Given the description of an element on the screen output the (x, y) to click on. 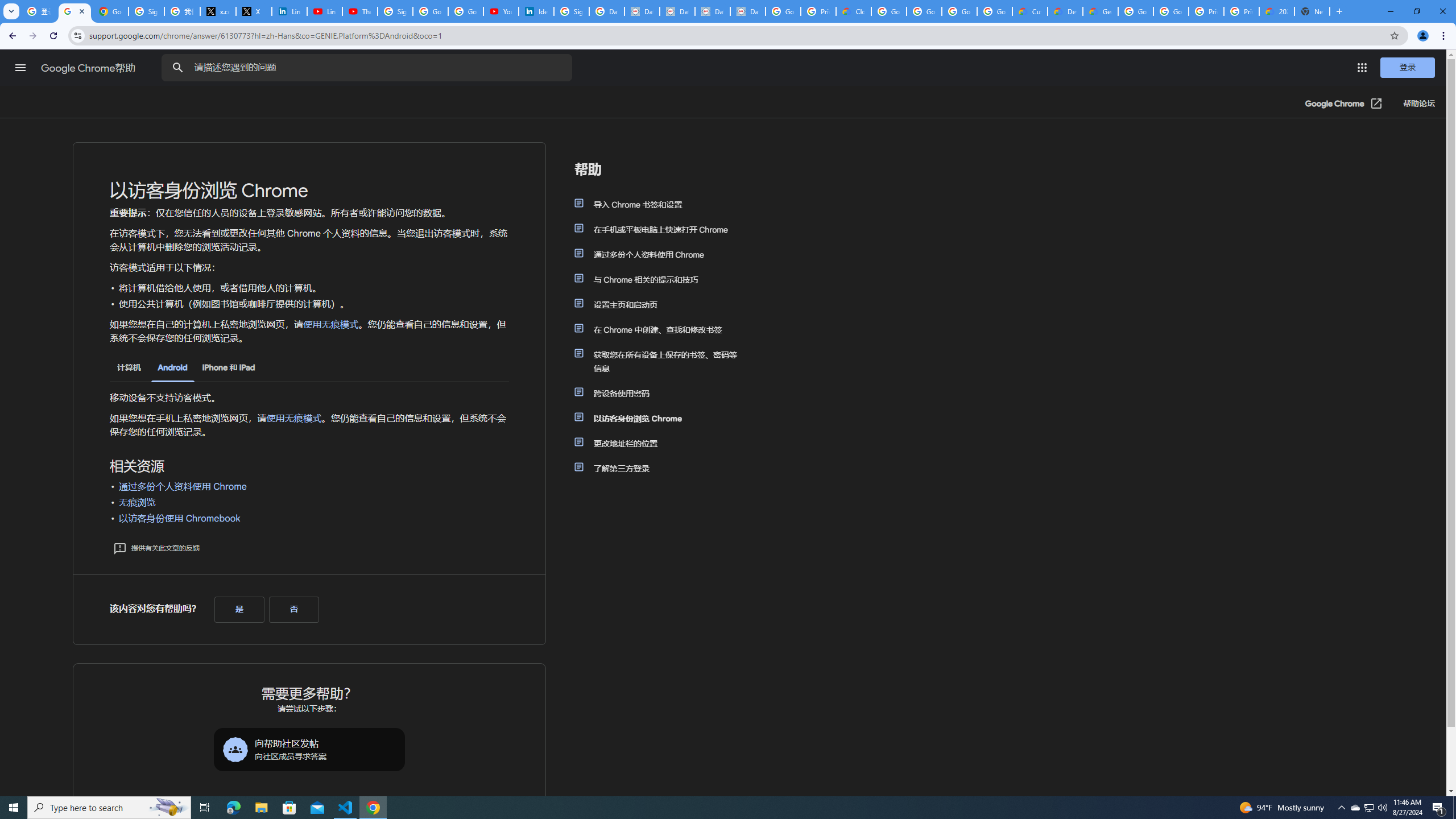
Customer Care | Google Cloud (1029, 11)
Data Privacy Framework (747, 11)
Sign in - Google Accounts (394, 11)
Google Workspace - Specific Terms (959, 11)
